Given the description of an element on the screen output the (x, y) to click on. 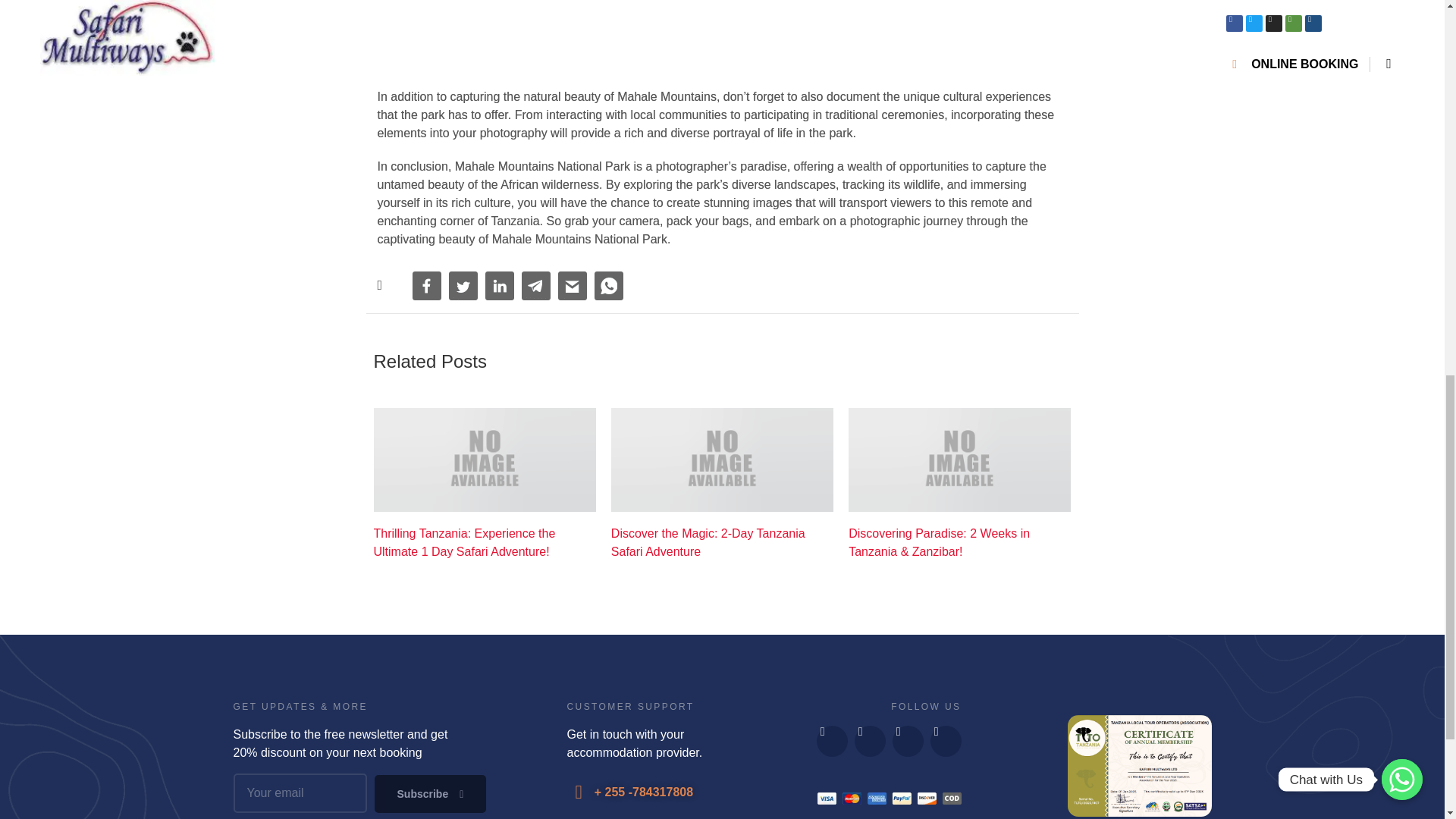
Subscribe (430, 793)
Discover the Magic: 2-Day Tanzania Safari Adventure (721, 542)
